Given the description of an element on the screen output the (x, y) to click on. 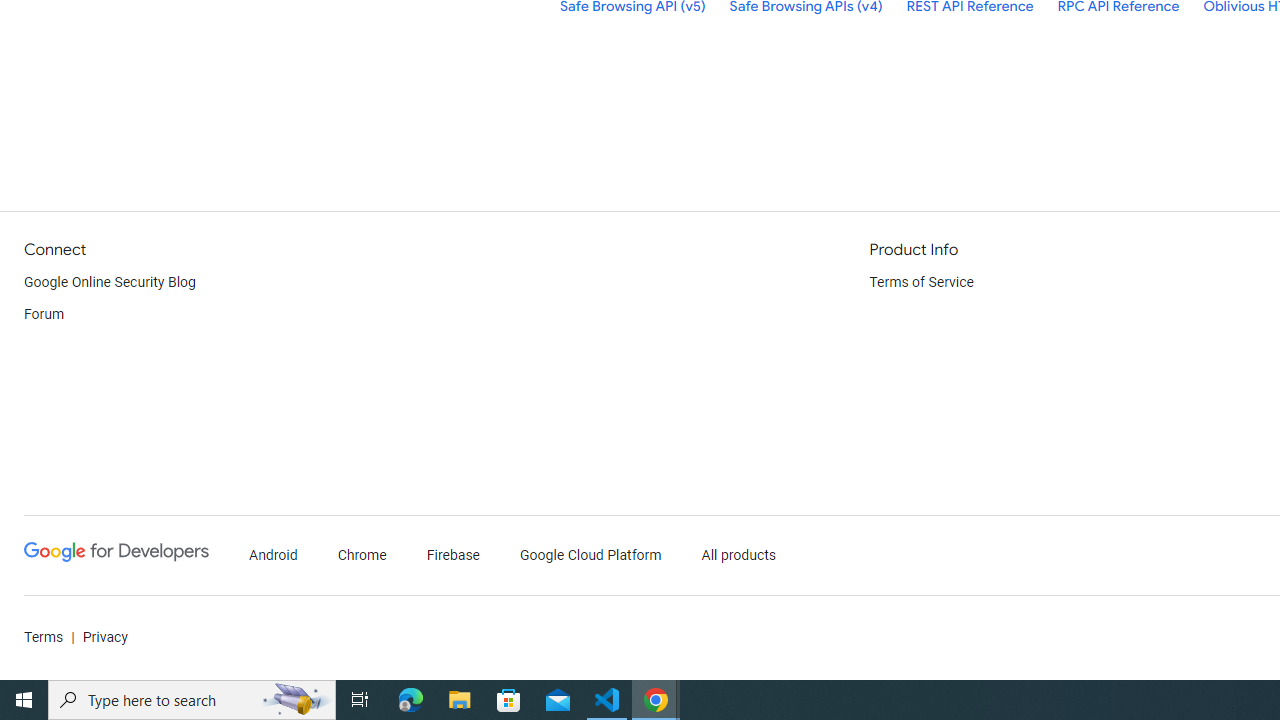
Google Online Security Blog (109, 282)
Google Developers (116, 555)
Privacy (104, 637)
Google Developers (116, 551)
All products (738, 555)
Google Cloud Platform (590, 555)
Forum (44, 314)
Firebase (453, 555)
Android (273, 555)
